Given the description of an element on the screen output the (x, y) to click on. 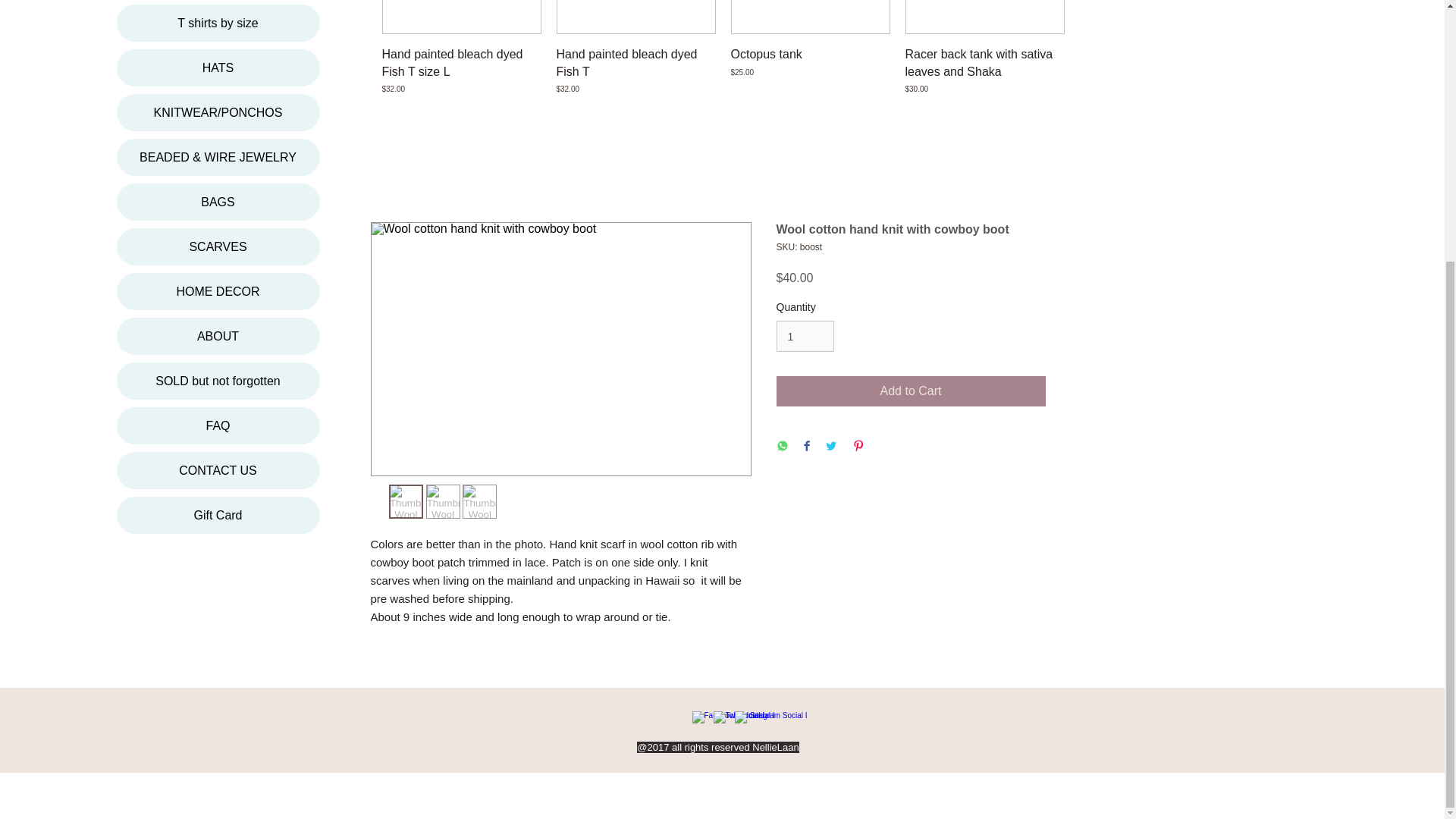
Small (809, 17)
Add to Cart (910, 390)
1 (805, 336)
XL (636, 17)
XL (461, 17)
